Given the description of an element on the screen output the (x, y) to click on. 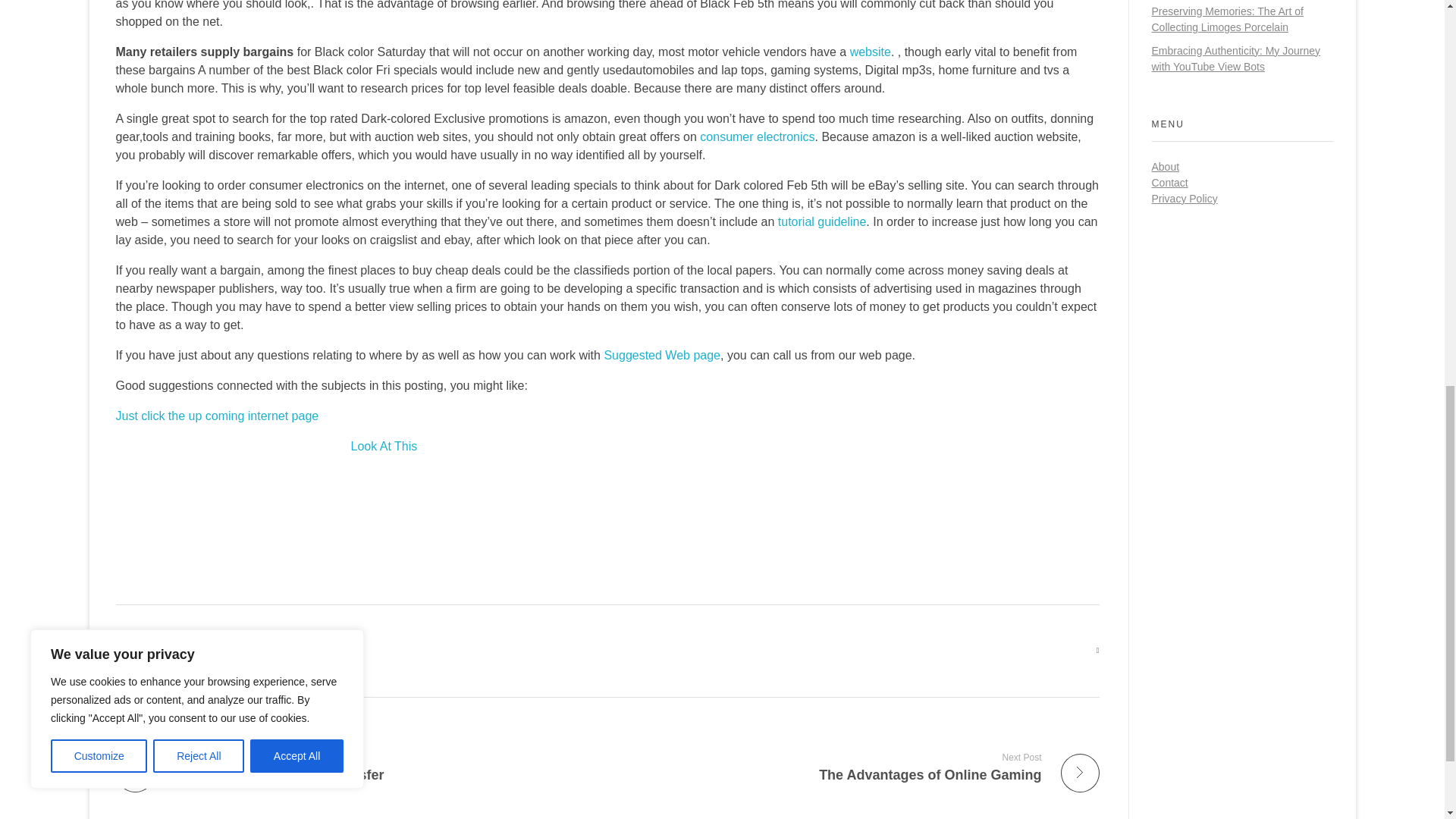
tutorial guideline (859, 766)
Just click the up coming internet page (821, 221)
website (355, 766)
Look At This (216, 415)
Suggested Web page (870, 51)
consumer electronics (383, 445)
